Given the description of an element on the screen output the (x, y) to click on. 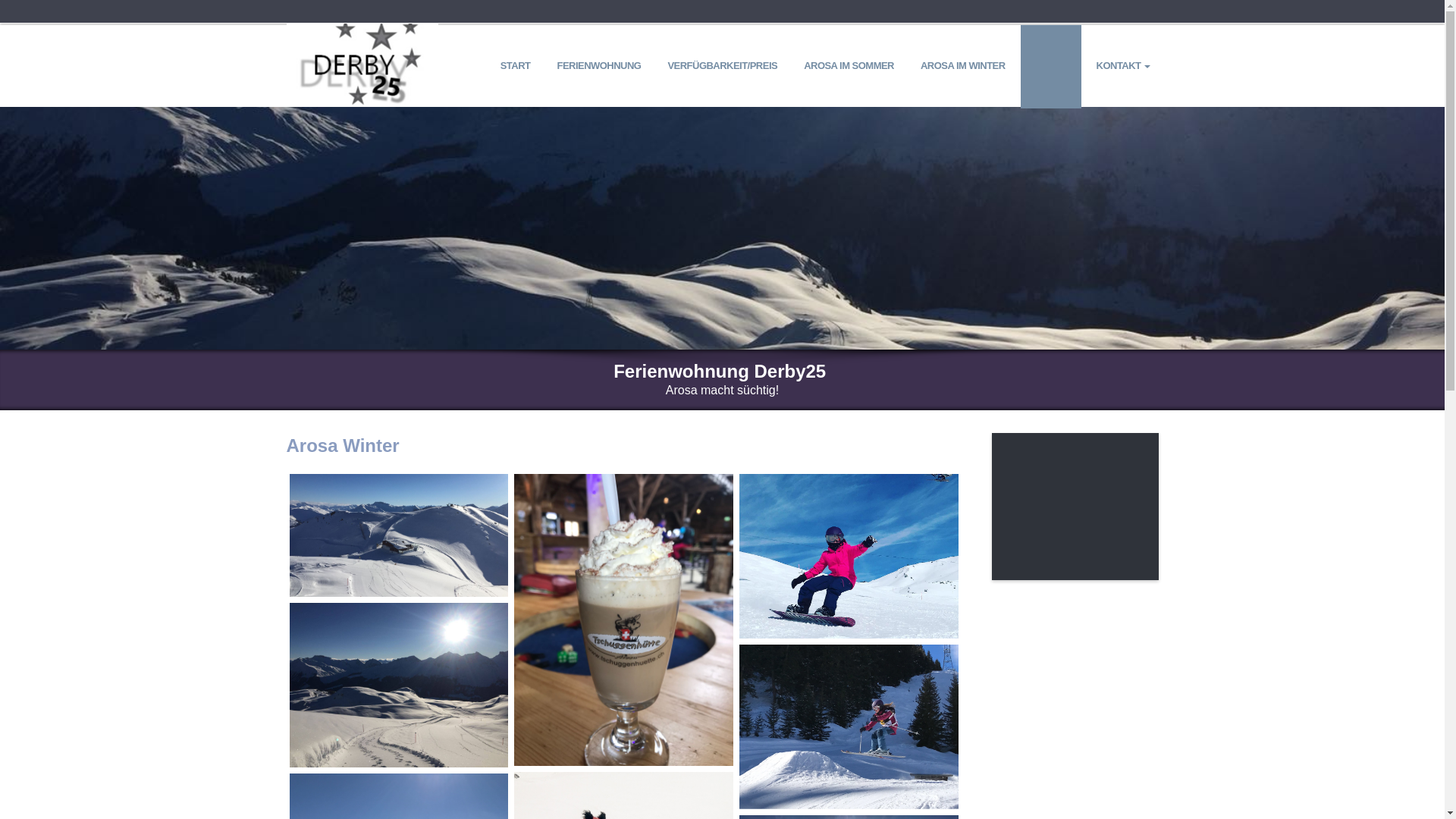
KONTAKT Element type: text (1121, 66)
START Element type: text (515, 66)
FERIENWOHNUNG Element type: text (598, 66)
  Element type: text (362, 31)
FOTOS Element type: text (1050, 66)
AROSA IM WINTER Element type: text (962, 66)
AROSA IM SOMMER Element type: text (848, 66)
